Given the description of an element on the screen output the (x, y) to click on. 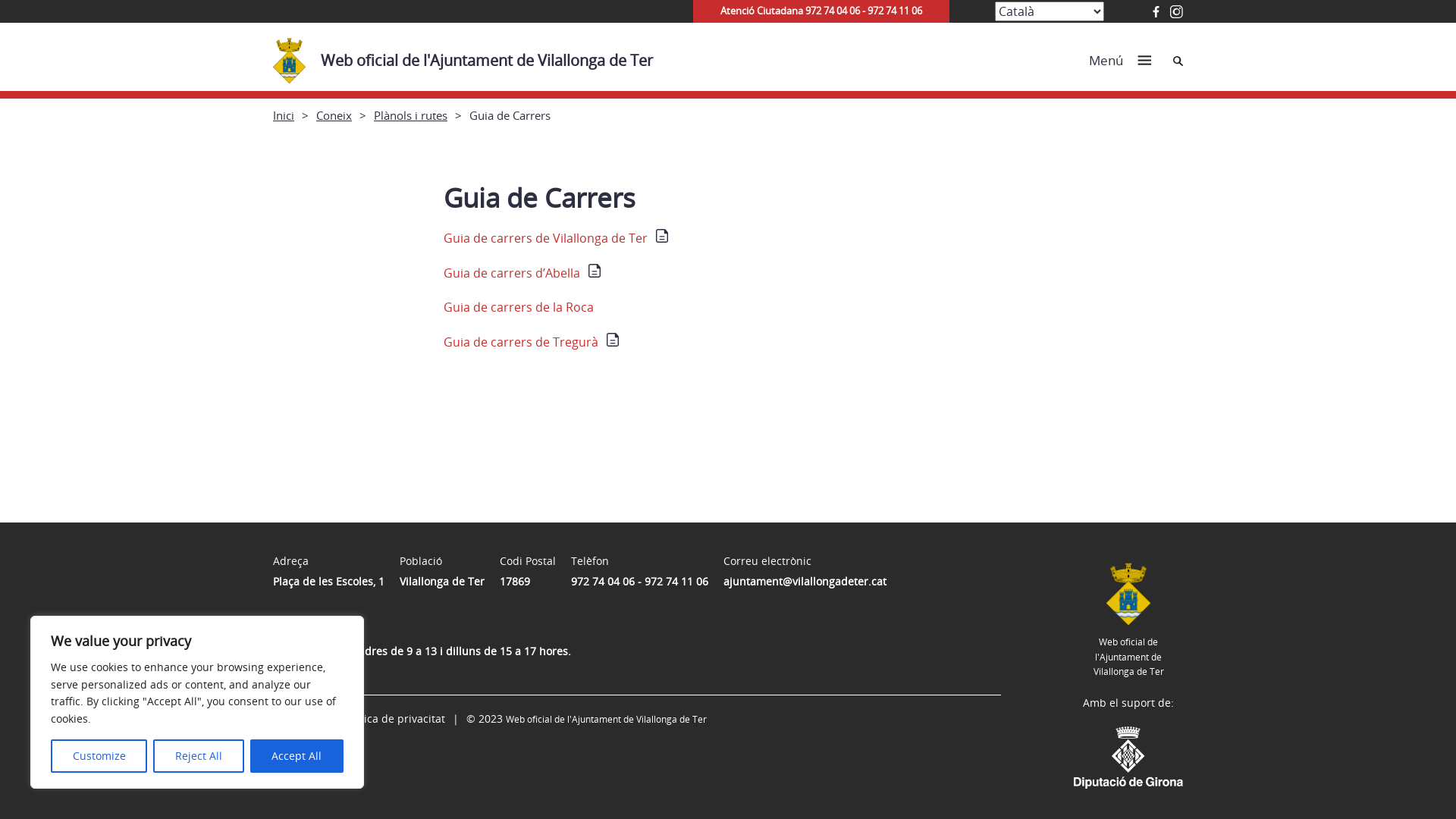
Coneix Element type: text (333, 114)
Cerca Element type: text (1178, 60)
Guia de carrers de la Roca Element type: text (518, 306)
Guia de carrers de Vilallonga de Ter Element type: text (555, 237)
ajuntament@vilallongadeter.cat Element type: text (804, 581)
Reject All Element type: text (198, 755)
Inici Element type: text (283, 114)
Customize Element type: text (98, 755)
972 74 04 06 - 972 74 11 06 Element type: text (639, 581)
Web oficial de l'Ajuntament de Vilallonga de Ter Element type: text (470, 56)
Accept All Element type: text (296, 755)
